Given the description of an element on the screen output the (x, y) to click on. 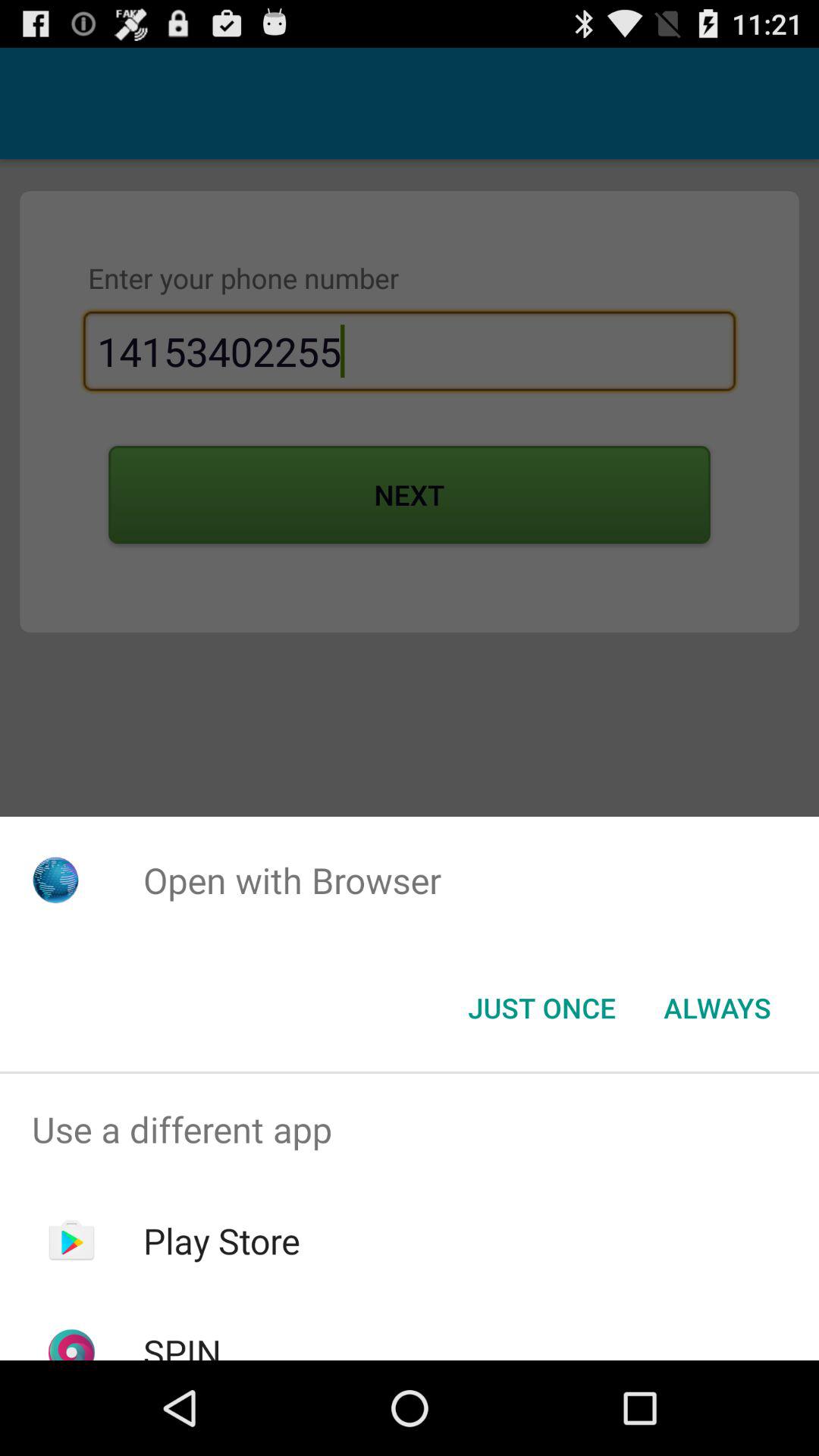
jump to play store app (221, 1240)
